Given the description of an element on the screen output the (x, y) to click on. 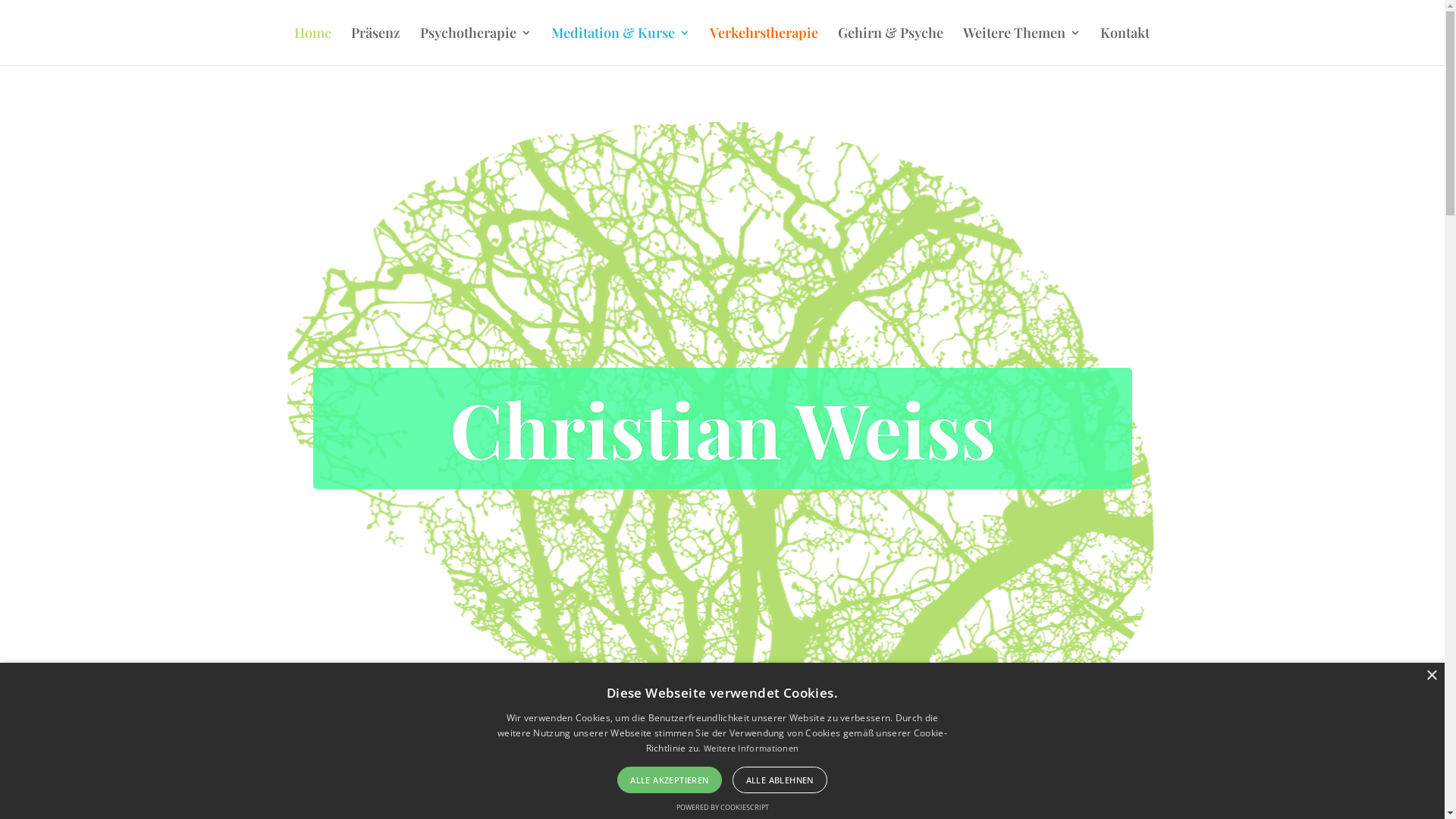
Weitere Informationen Element type: text (750, 747)
POWERED BY COOKIESCRIPT Element type: text (722, 807)
Verkehrstherapie Element type: text (763, 46)
Weitere Themen Element type: text (1021, 46)
Gehirn & Psyche Element type: text (889, 46)
Kontakt Element type: text (1123, 46)
Meditation & Kurse Element type: text (619, 46)
Home Element type: text (312, 46)
Psychotherapie Element type: text (475, 46)
